Given the description of an element on the screen output the (x, y) to click on. 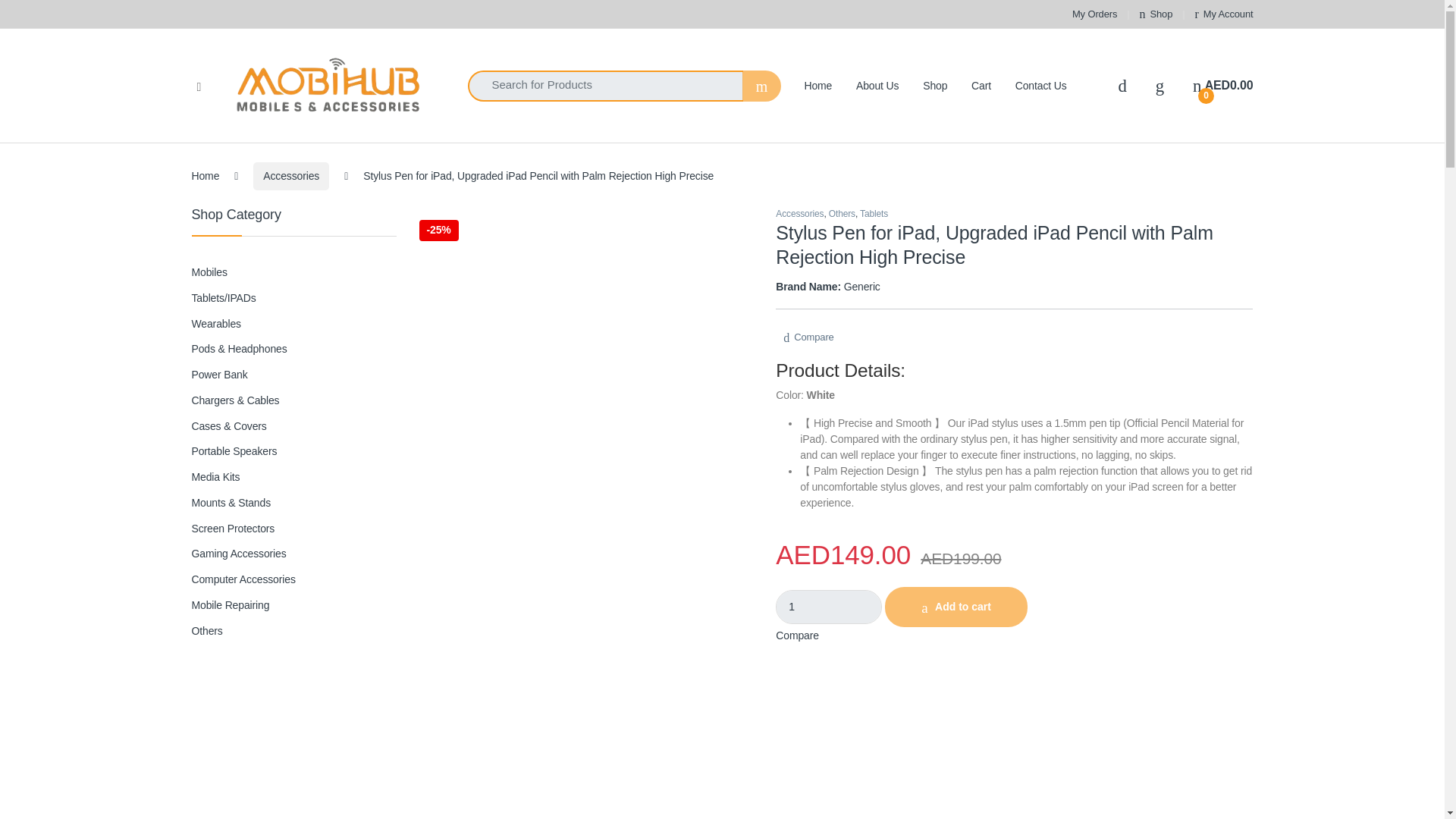
Contact Us (1040, 85)
1 (1222, 85)
Shop (829, 606)
About Us (1156, 13)
Contact Us (877, 85)
My Account (1040, 85)
Accessories (1224, 13)
My Orders (291, 176)
Shop (1093, 13)
About Us (1156, 13)
My Account (877, 85)
My Orders (1224, 13)
Home (1093, 13)
